Given the description of an element on the screen output the (x, y) to click on. 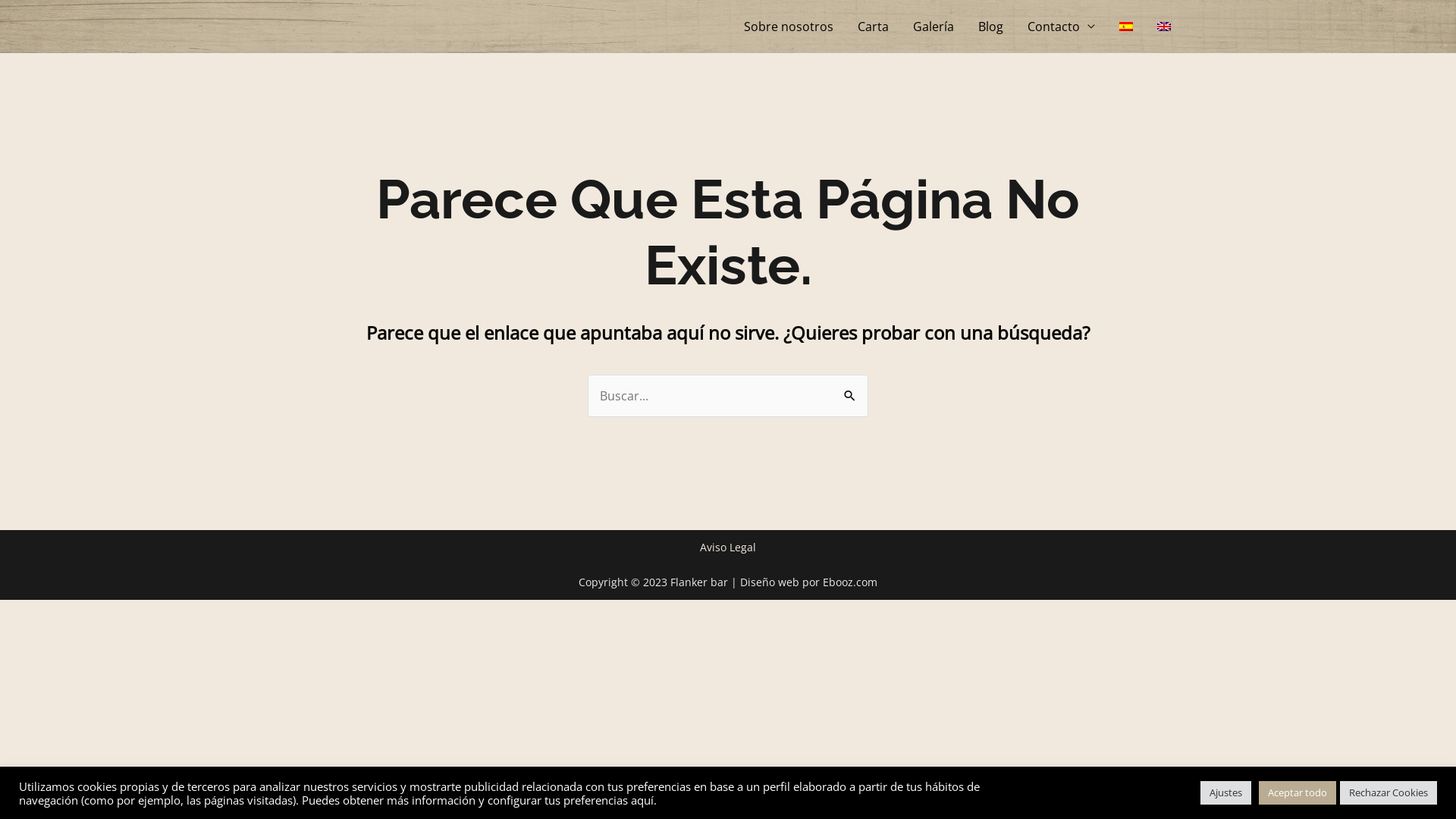
Rechazar Cookies Element type: text (1388, 792)
Sobre nosotros Element type: text (788, 26)
Buscar Element type: text (851, 388)
Blog Element type: text (990, 26)
Ajustes Element type: text (1225, 792)
Carta Element type: text (872, 26)
Aviso Legal Element type: text (727, 546)
Aceptar todo Element type: text (1297, 792)
Contacto Element type: text (1061, 26)
